Given the description of an element on the screen output the (x, y) to click on. 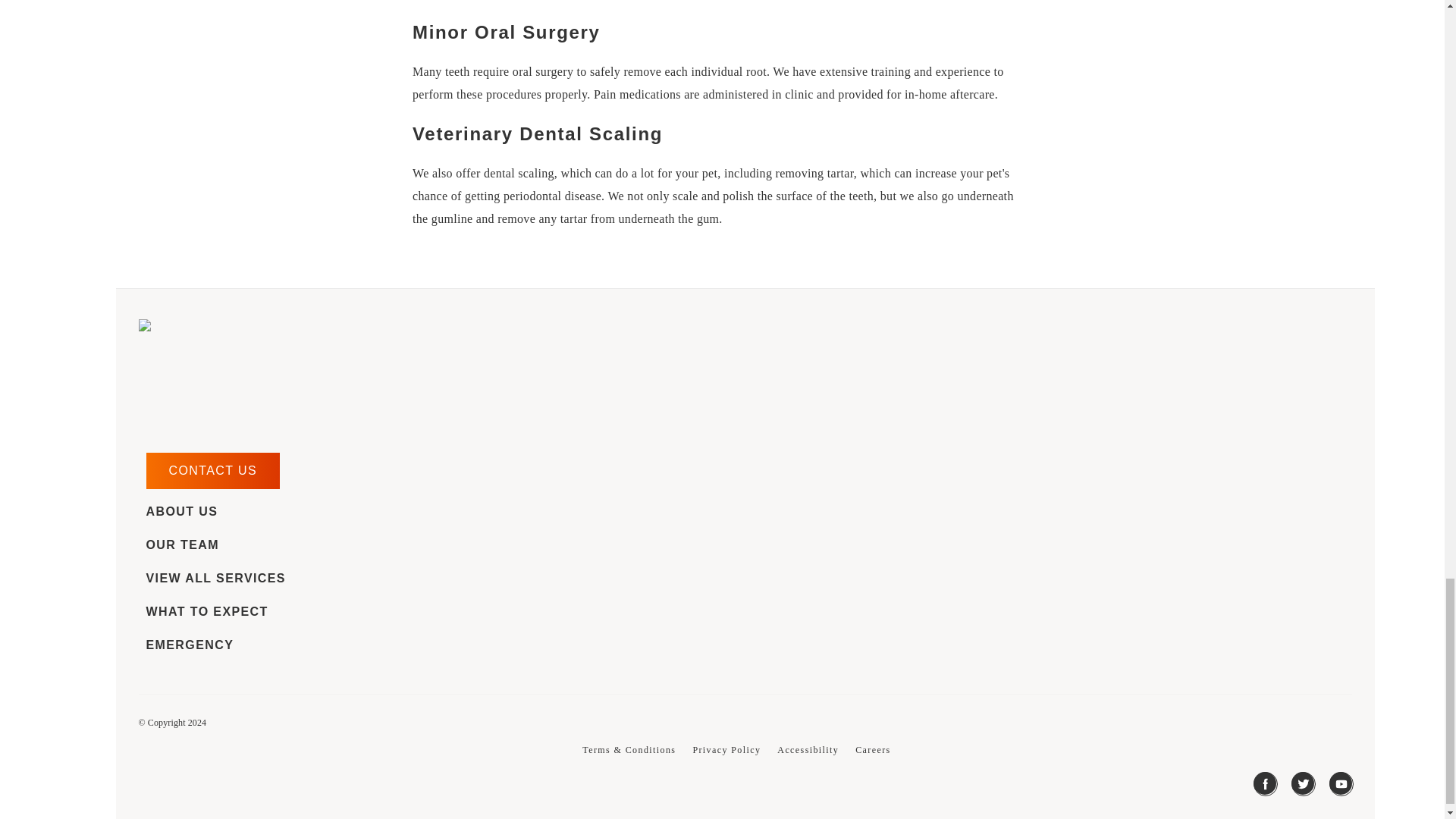
WHAT TO EXPECT (206, 612)
ABOUT US (180, 511)
CONTACT US (212, 470)
VIEW ALL SERVICES (215, 578)
EMERGENCY (188, 644)
OUR TEAM (182, 545)
